Given the description of an element on the screen output the (x, y) to click on. 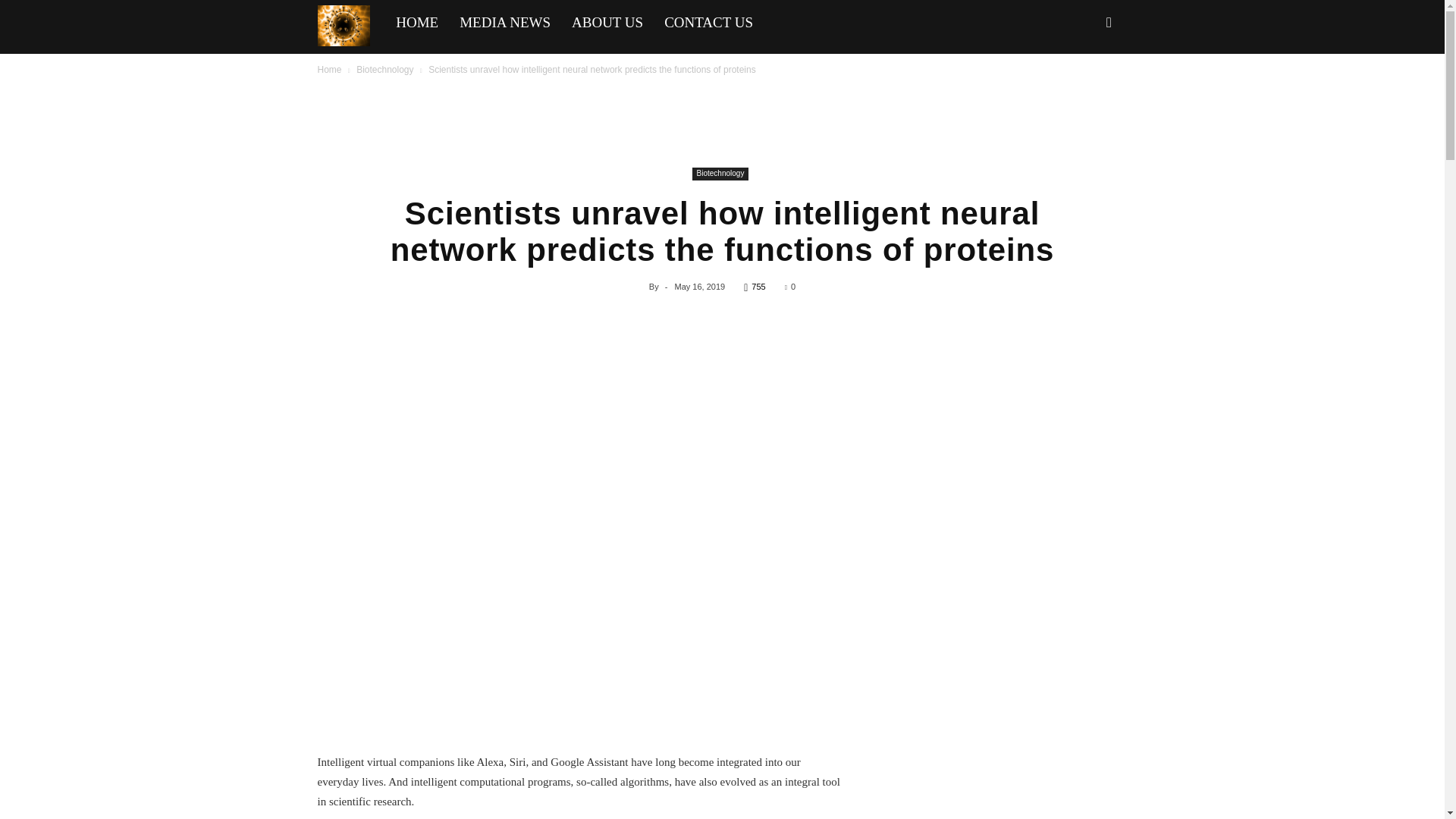
View all posts in Biotechnology (384, 69)
HOME (416, 22)
Biotechnology (384, 69)
Home (328, 69)
ABOUT US (606, 22)
American Biotech News (351, 24)
MEDIA NEWS (504, 22)
CONTACT US (707, 22)
Search (1085, 87)
Newspaper 6 - News Magazine theme for Wordpress (343, 25)
